Given the description of an element on the screen output the (x, y) to click on. 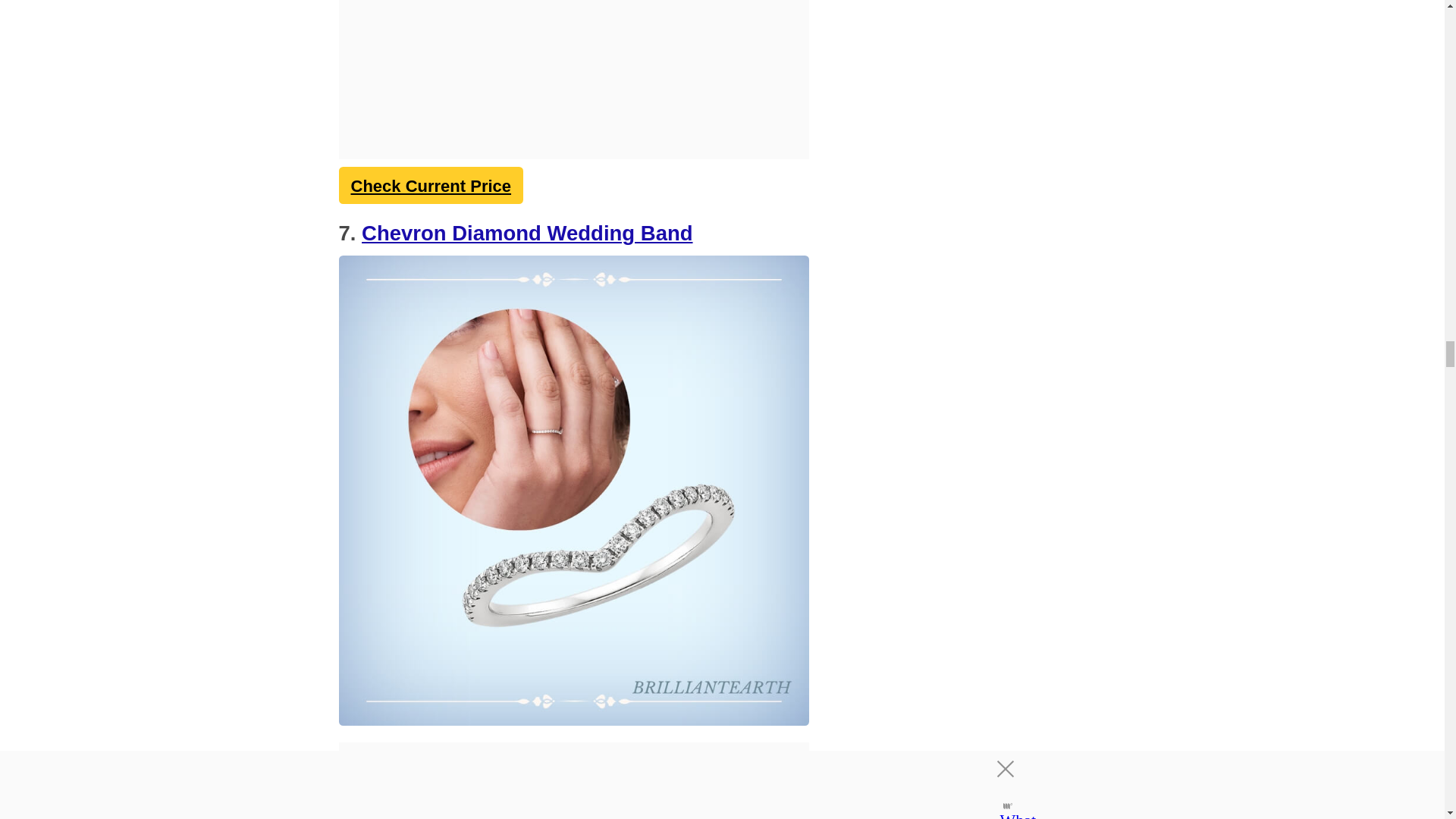
Chevron Diamond Wedding Band (527, 232)
Check Current Price (429, 185)
